Given the description of an element on the screen output the (x, y) to click on. 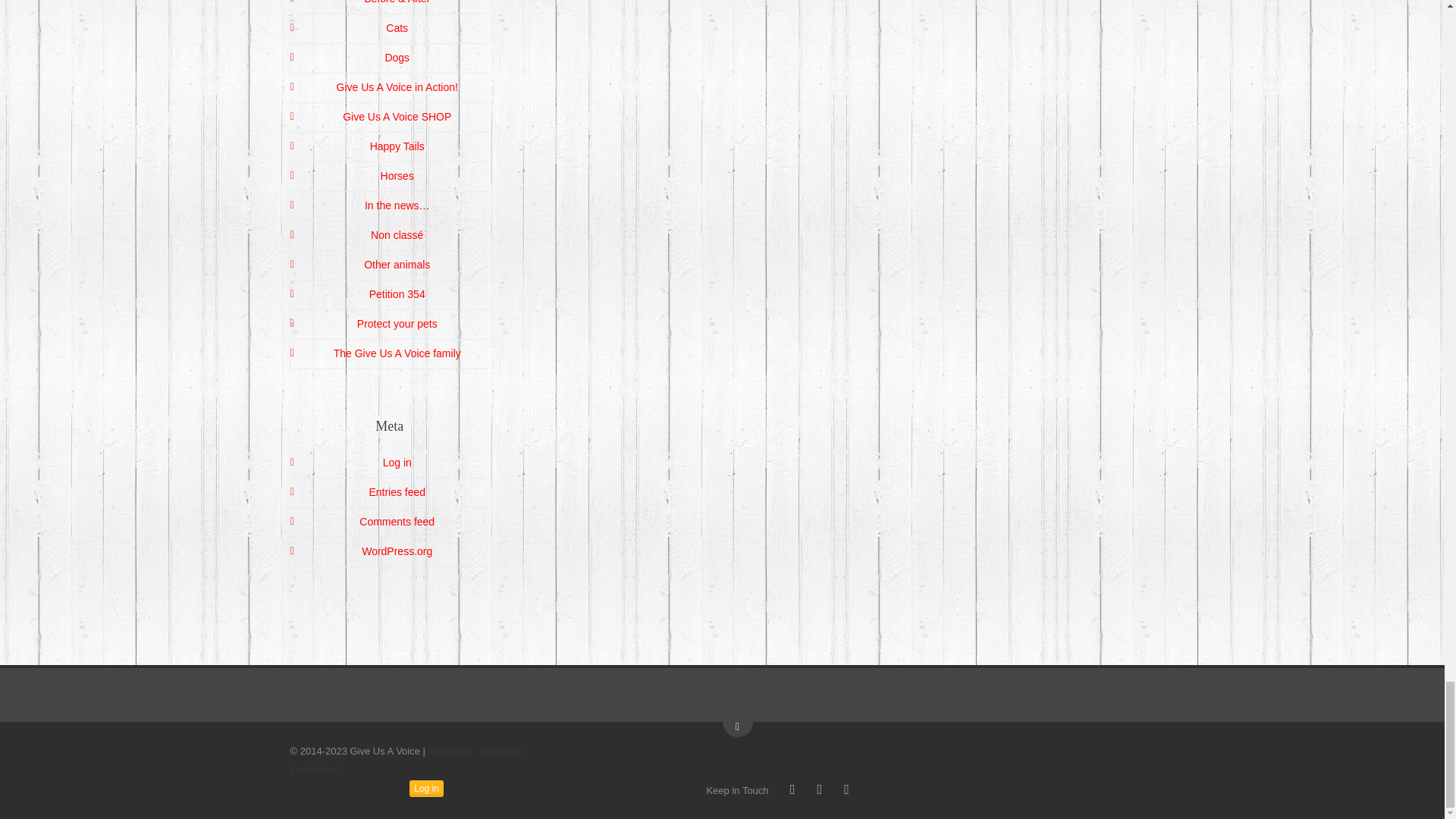
Immobilier Luxembourg (406, 759)
Login (426, 788)
